Given the description of an element on the screen output the (x, y) to click on. 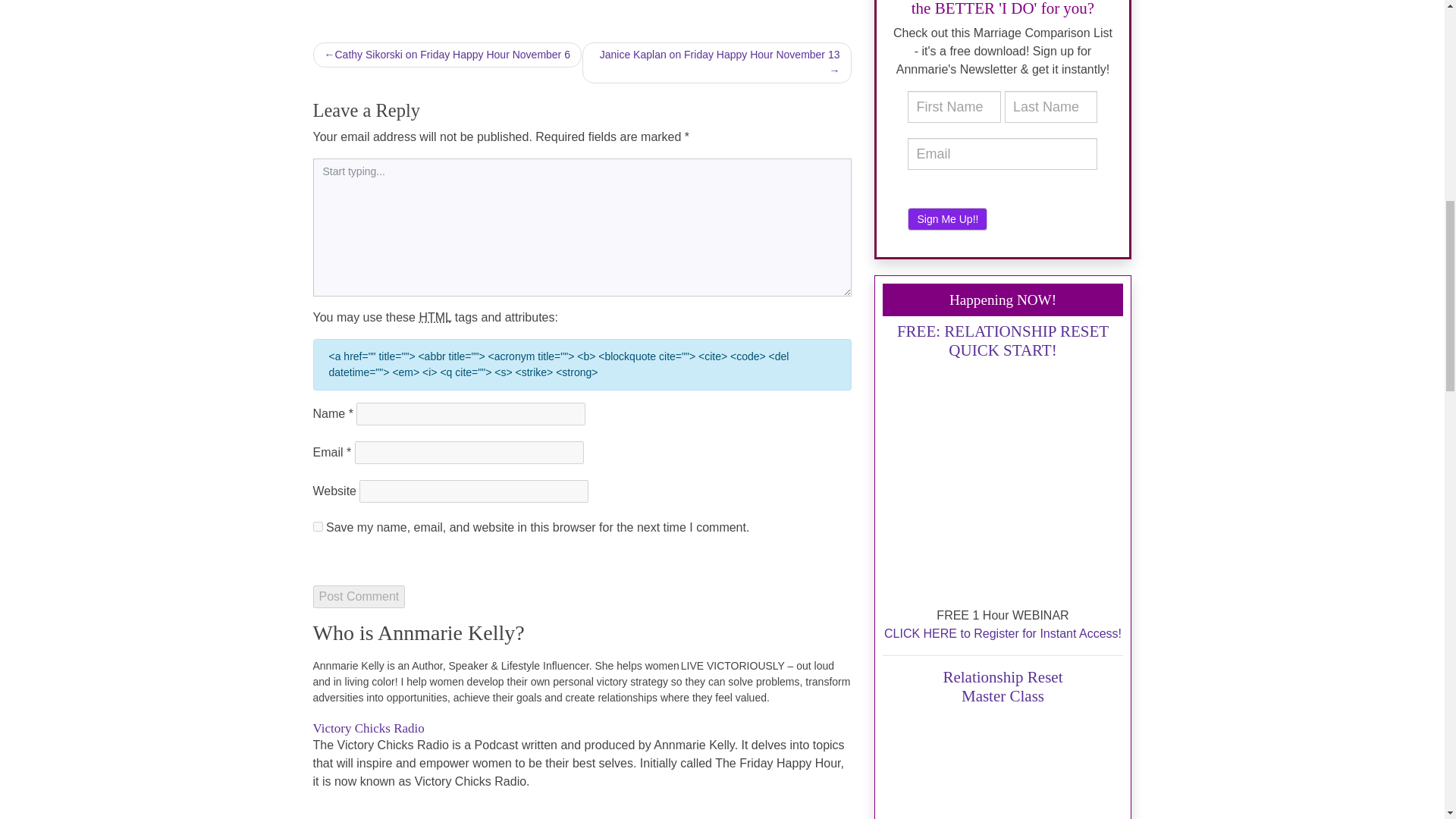
yes (317, 526)
Post Comment (358, 596)
Sign Me Up!! (947, 219)
